Given the description of an element on the screen output the (x, y) to click on. 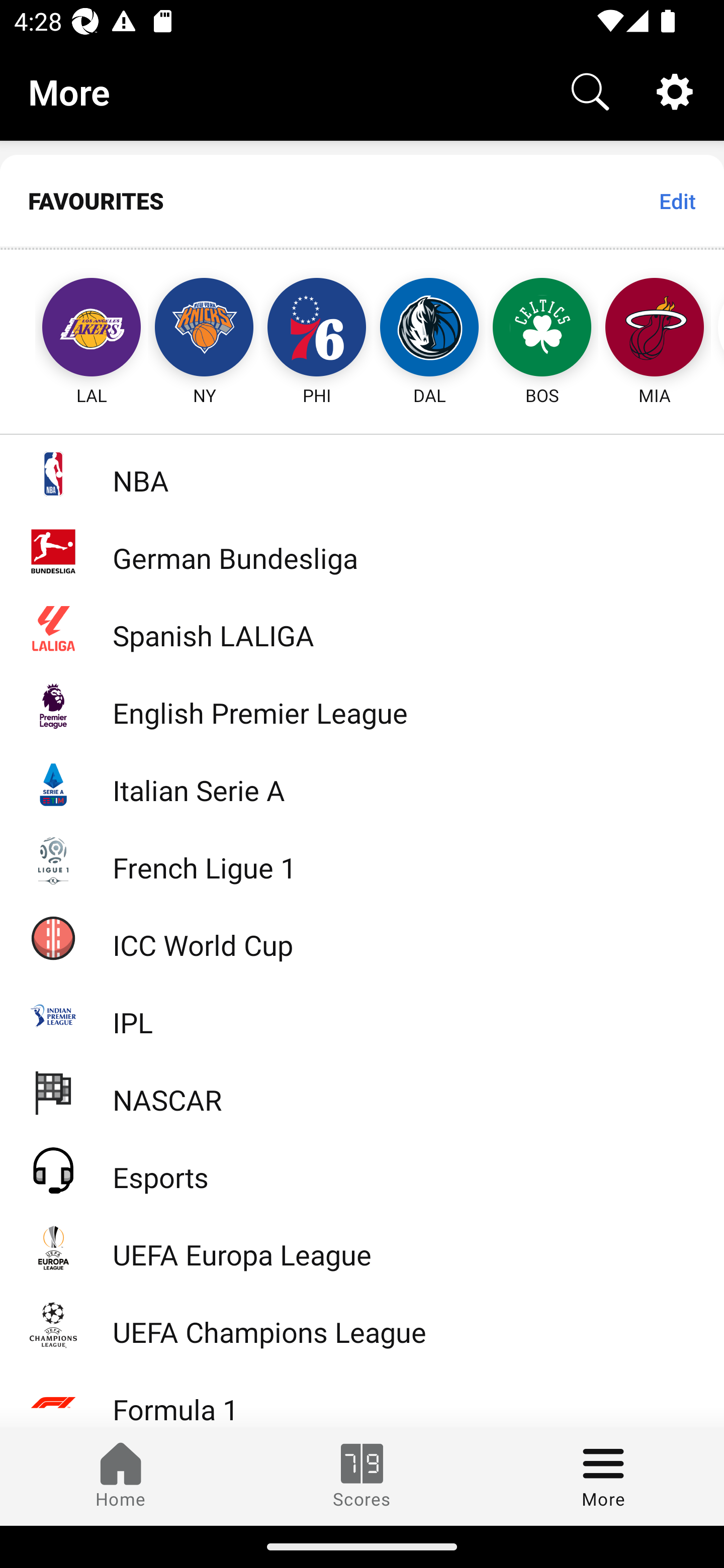
Search (590, 90)
Settings (674, 90)
Edit (676, 200)
LAL Los Angeles Lakers (73, 328)
NY New York Knicks (203, 328)
PHI Philadelphia 76ers (316, 328)
DAL Dallas Mavericks (428, 328)
BOS Boston Celtics (541, 328)
MIA Miami Heat (654, 328)
NBA (362, 473)
German Bundesliga (362, 550)
Spanish LALIGA (362, 627)
English Premier League (362, 705)
Italian Serie A (362, 782)
French Ligue 1 (362, 859)
ICC World Cup (362, 937)
IPL (362, 1014)
NASCAR (362, 1091)
Esports (362, 1169)
UEFA Europa League (362, 1246)
